Given the description of an element on the screen output the (x, y) to click on. 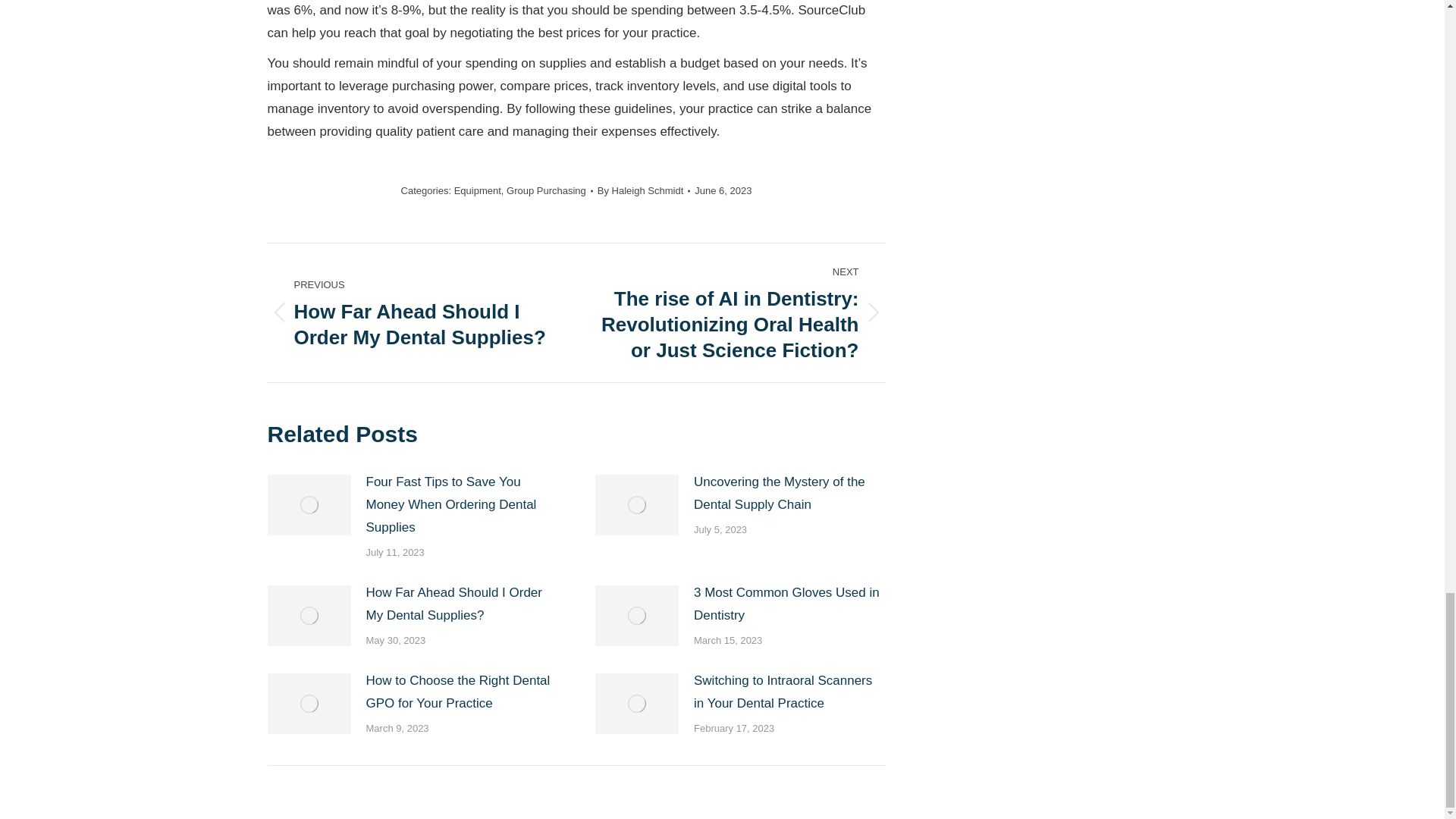
Equipment (477, 190)
By Haleigh Schmidt (643, 189)
June 6, 2023 (409, 312)
View all posts by Haleigh Schmidt (722, 189)
3:02 pm (643, 189)
Group Purchasing (722, 189)
